Given the description of an element on the screen output the (x, y) to click on. 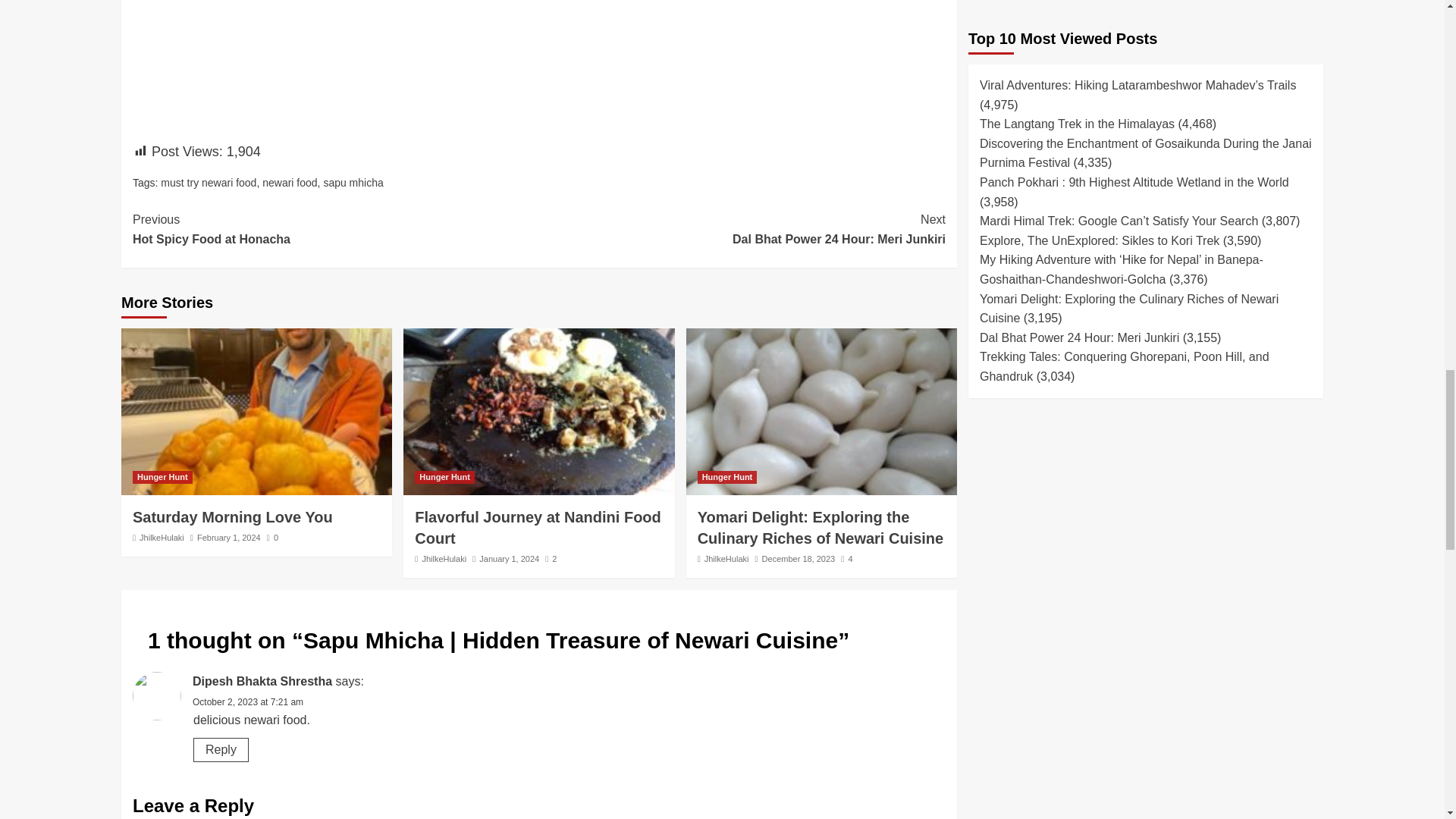
December 18, 2023 (798, 558)
4 (846, 558)
January 1, 2024 (508, 558)
October 2, 2023 at 7:21 am (247, 701)
Hunger Hunt (444, 477)
Reply (220, 749)
0 (272, 537)
2 (550, 558)
JhilkeHulaki (443, 558)
JhilkeHulaki (741, 228)
Saturday Morning Love You (726, 558)
newari food (232, 516)
